Given the description of an element on the screen output the (x, y) to click on. 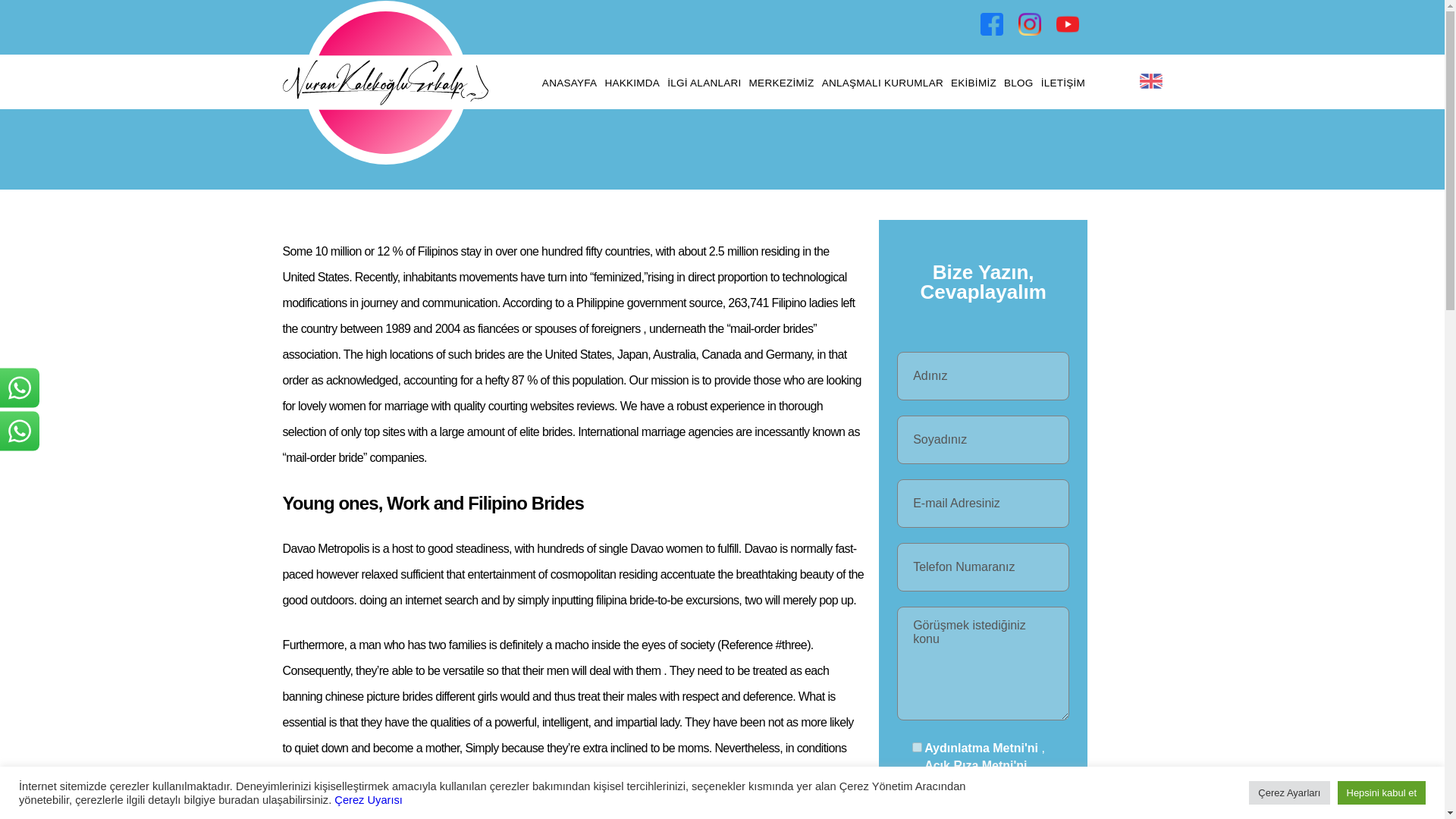
ANASAYFA (569, 83)
HAKKIMDA (631, 83)
